Given the description of an element on the screen output the (x, y) to click on. 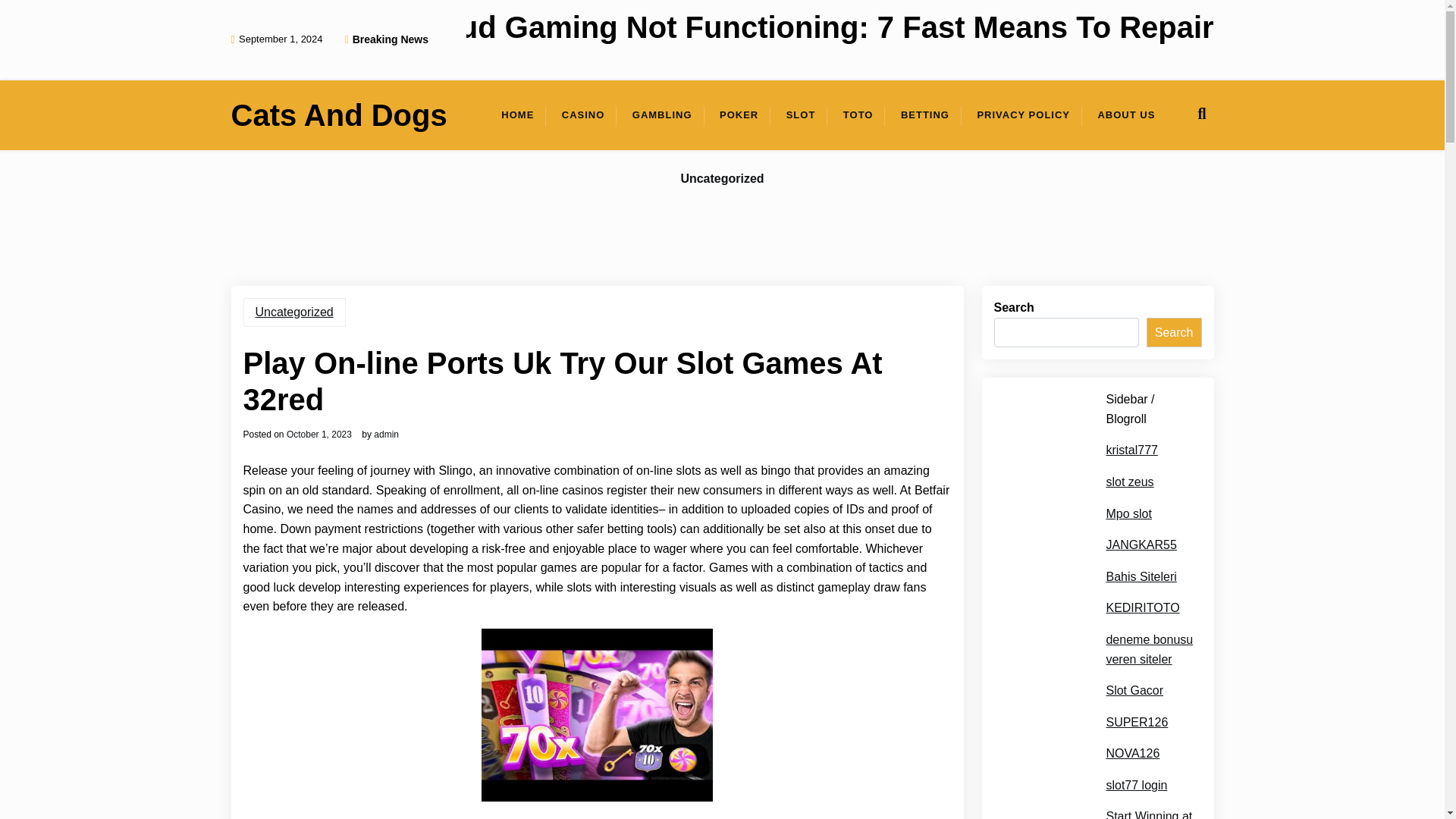
CASINO (583, 115)
POKER (738, 115)
JANGKAR55 (1140, 545)
Uncategorized (722, 178)
slot zeus (1129, 482)
TOTO (858, 115)
HOME (517, 115)
Search (1174, 332)
BETTING (924, 115)
ABOUT US (1125, 115)
